Given the description of an element on the screen output the (x, y) to click on. 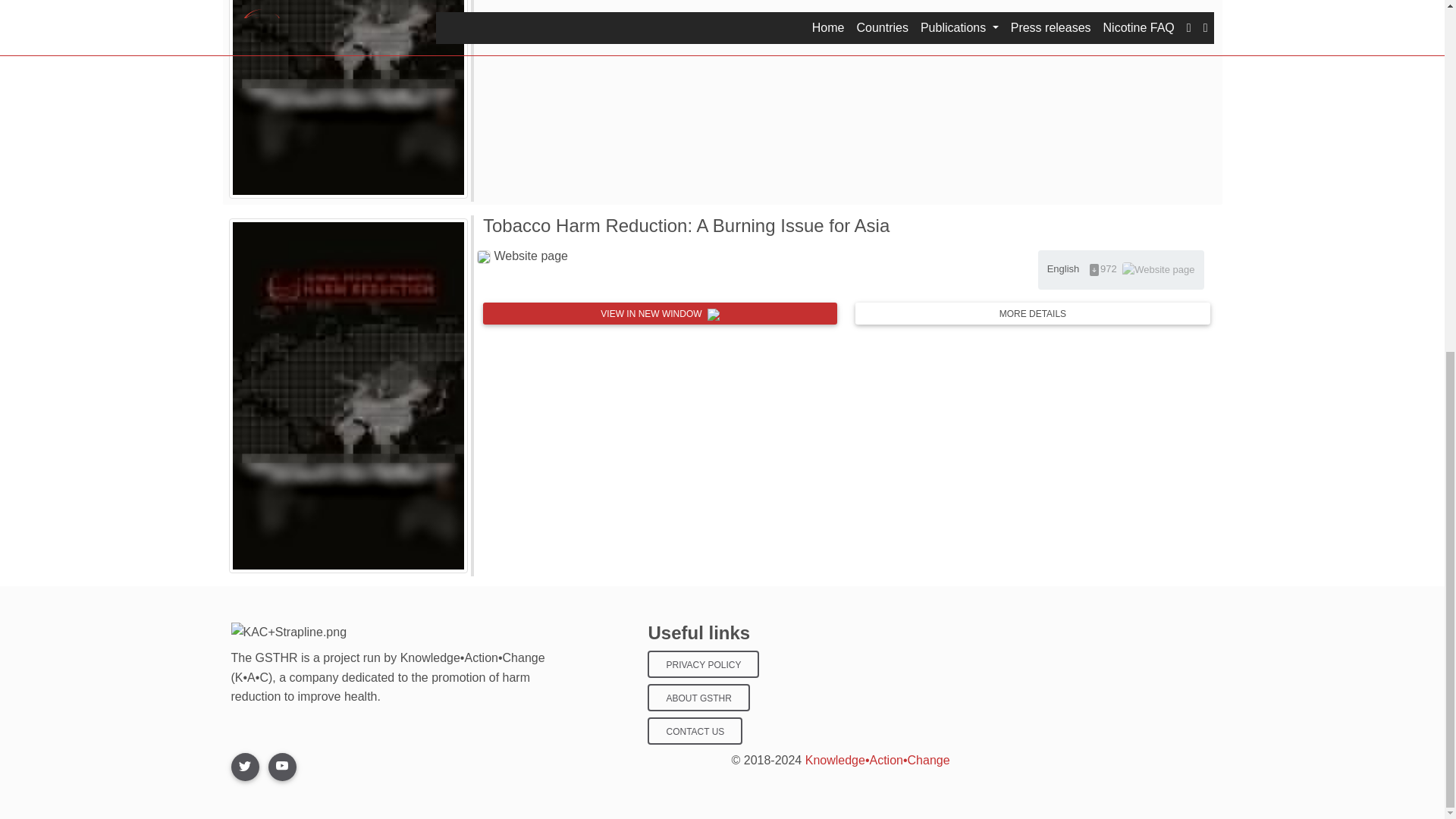
PRIVACY POLICY (702, 664)
Privacy policy (702, 664)
About GSTHR (698, 697)
Twitter (244, 766)
VIEW IN NEW WINDOW (660, 313)
CONTACT US (694, 730)
Youtube (282, 766)
MORE DETAILS (1032, 313)
ABOUT GSTHR (698, 697)
Contact us (694, 730)
